Given the description of an element on the screen output the (x, y) to click on. 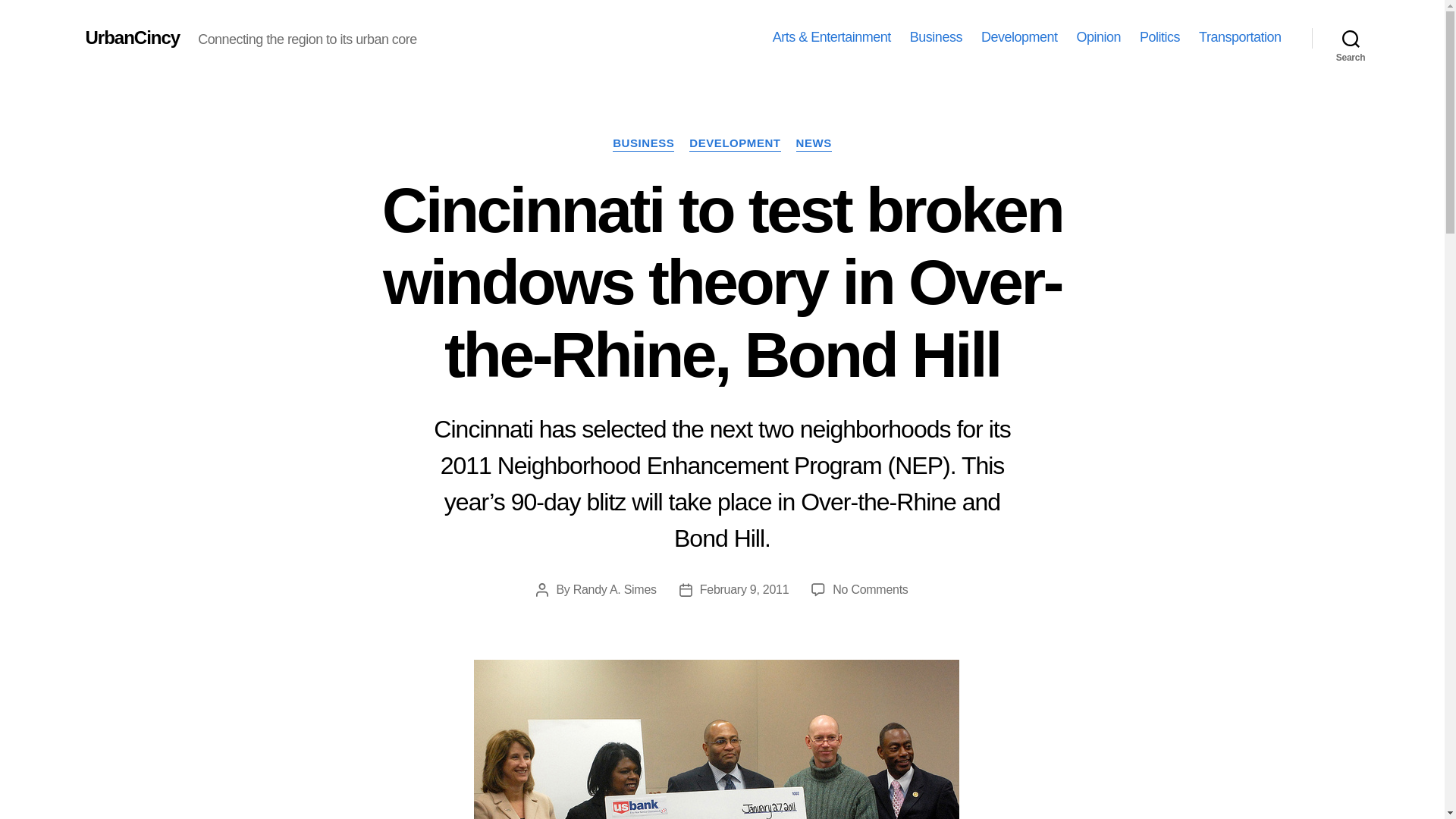
Politics (1159, 37)
BUSINESS (643, 143)
Development (1019, 37)
UrbanCincy (131, 37)
DEVELOPMENT (734, 143)
Transportation (1239, 37)
Search (1350, 37)
Randy A. Simes (614, 589)
February 9, 2011 (744, 589)
Business (936, 37)
Opinion (1098, 37)
NEWS (813, 143)
